Given the description of an element on the screen output the (x, y) to click on. 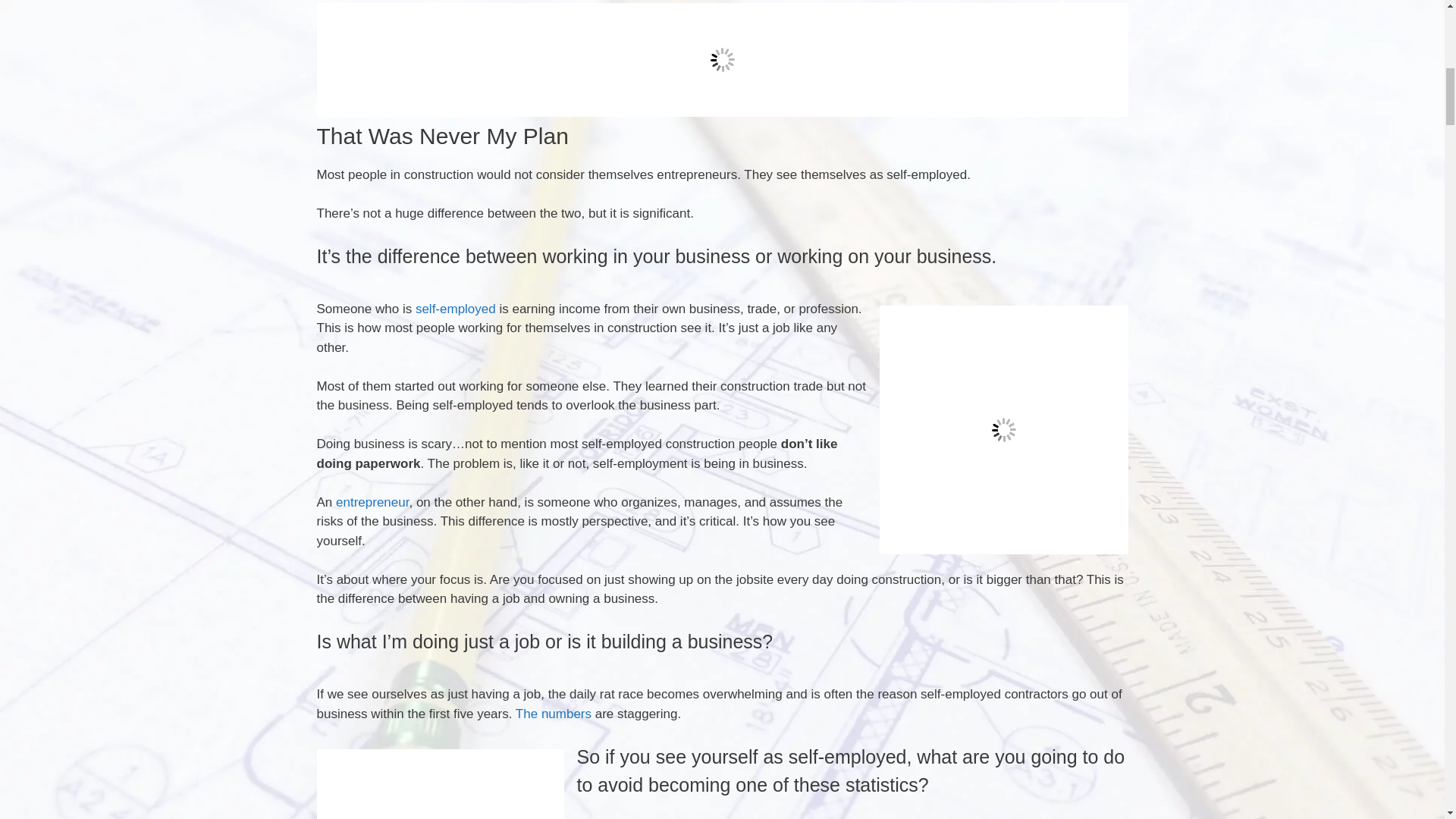
entrepreneur (370, 502)
self-employed (455, 309)
Scroll back to top (1406, 720)
The numbers (555, 713)
